Given the description of an element on the screen output the (x, y) to click on. 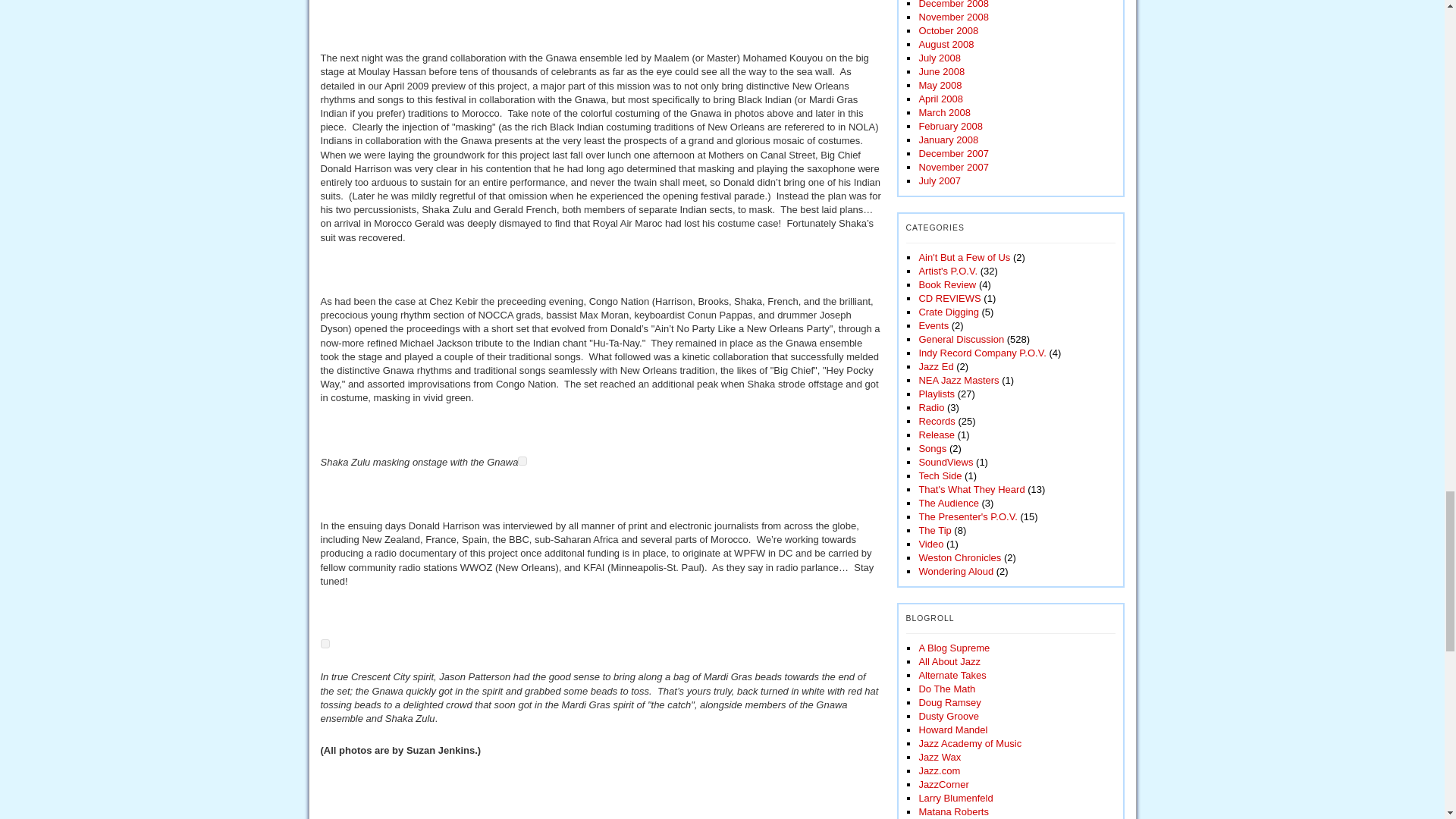
Online jazz periodical (948, 661)
NPR Jazz Blog (954, 647)
Rifftides (948, 702)
Ethan Iverson blog (946, 688)
Blog (951, 674)
